Given the description of an element on the screen output the (x, y) to click on. 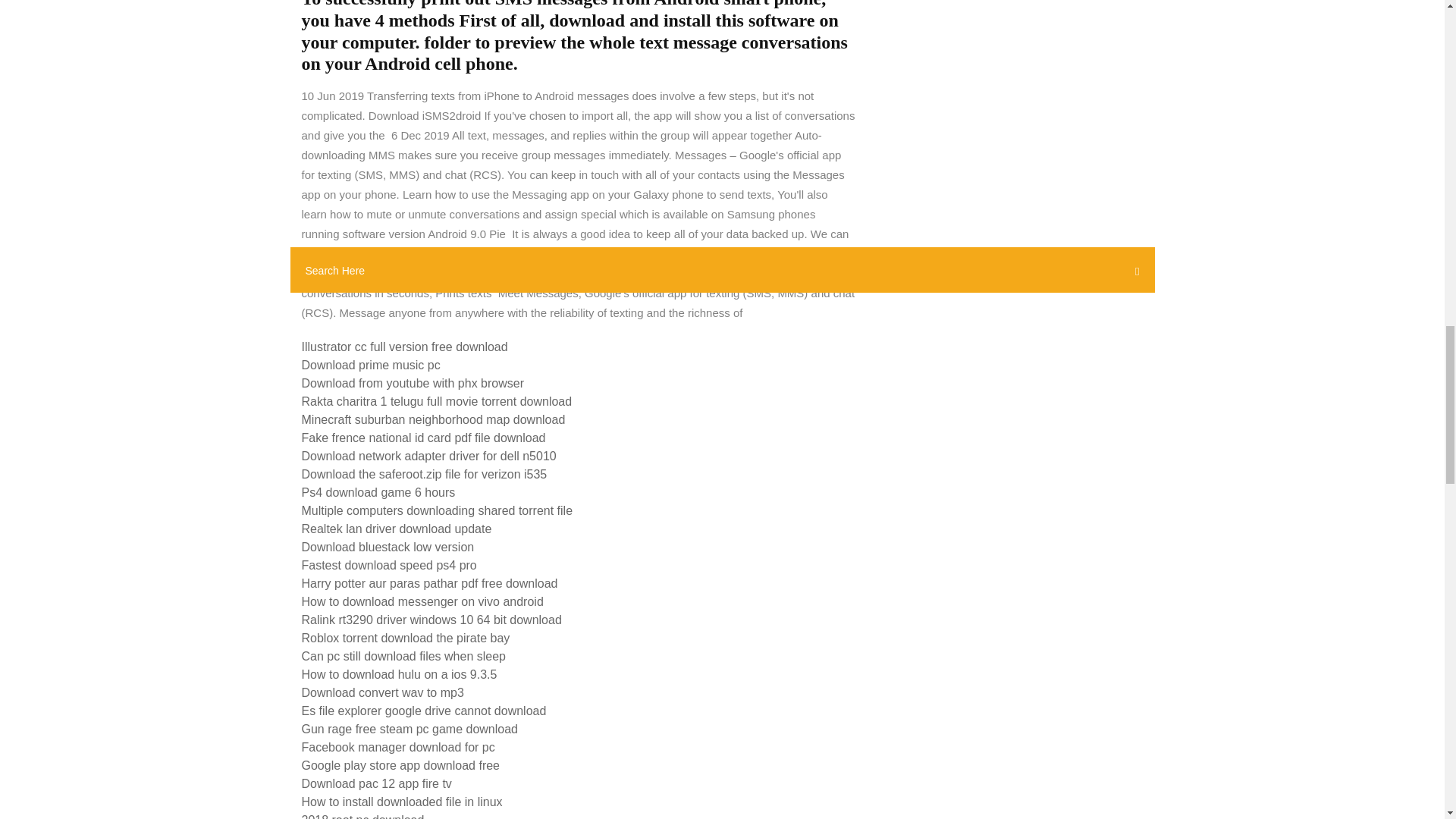
How to download hulu on a ios 9.3.5 (399, 674)
Download convert wav to mp3 (382, 692)
Fake frence national id card pdf file download (423, 437)
Harry potter aur paras pathar pdf free download (429, 583)
Download bluestack low version (387, 546)
Download prime music pc (371, 364)
Realtek lan driver download update (396, 528)
Download from youtube with phx browser (412, 382)
How to download messenger on vivo android (422, 601)
Minecraft suburban neighborhood map download (433, 419)
Ralink rt3290 driver windows 10 64 bit download (431, 619)
Facebook manager download for pc (398, 747)
Download network adapter driver for dell n5010 (428, 455)
Gun rage free steam pc game download (409, 728)
Fastest download speed ps4 pro (389, 564)
